Given the description of an element on the screen output the (x, y) to click on. 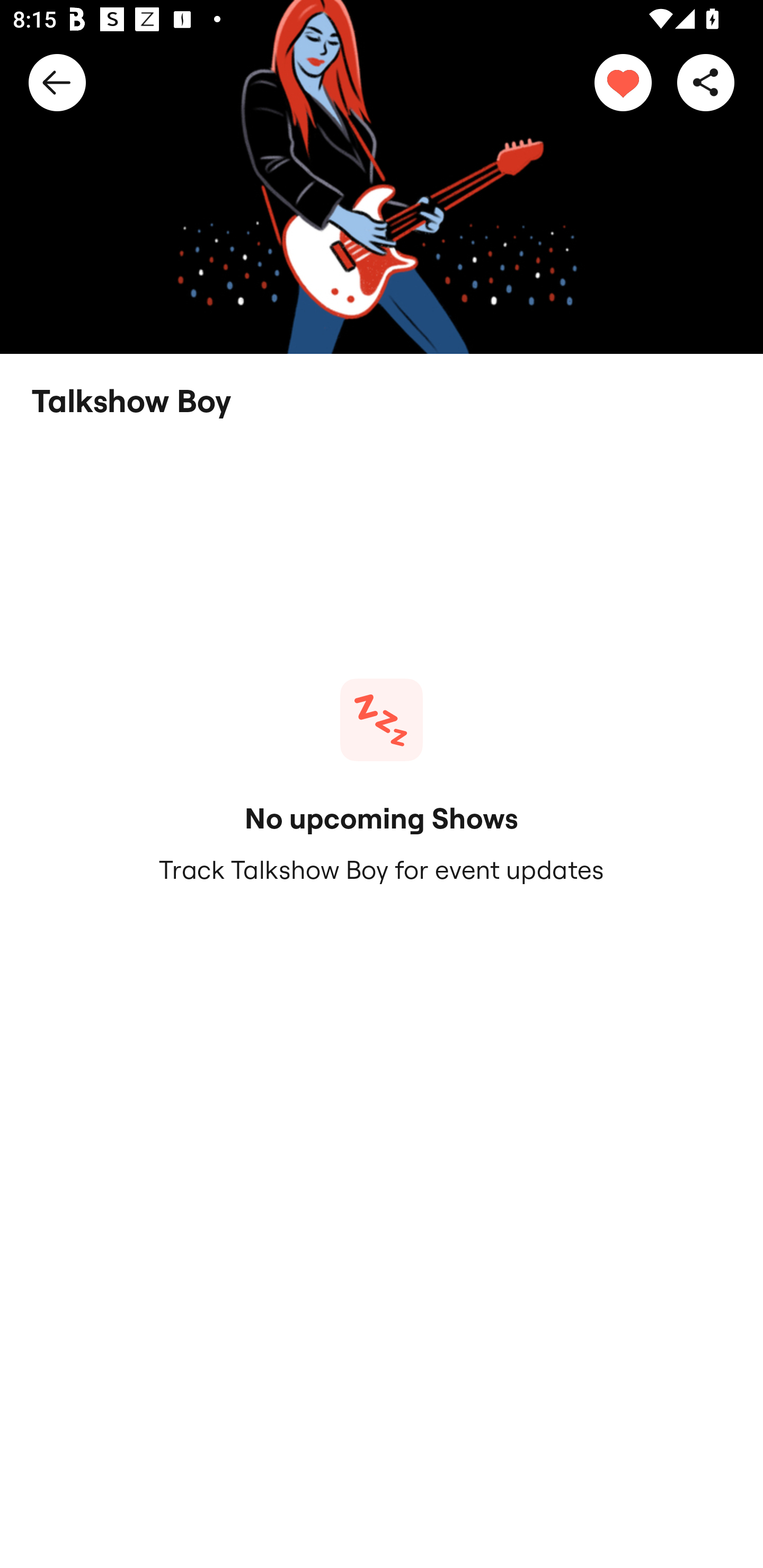
Back (57, 81)
Track this performer (623, 81)
Share this performer (705, 81)
